Given the description of an element on the screen output the (x, y) to click on. 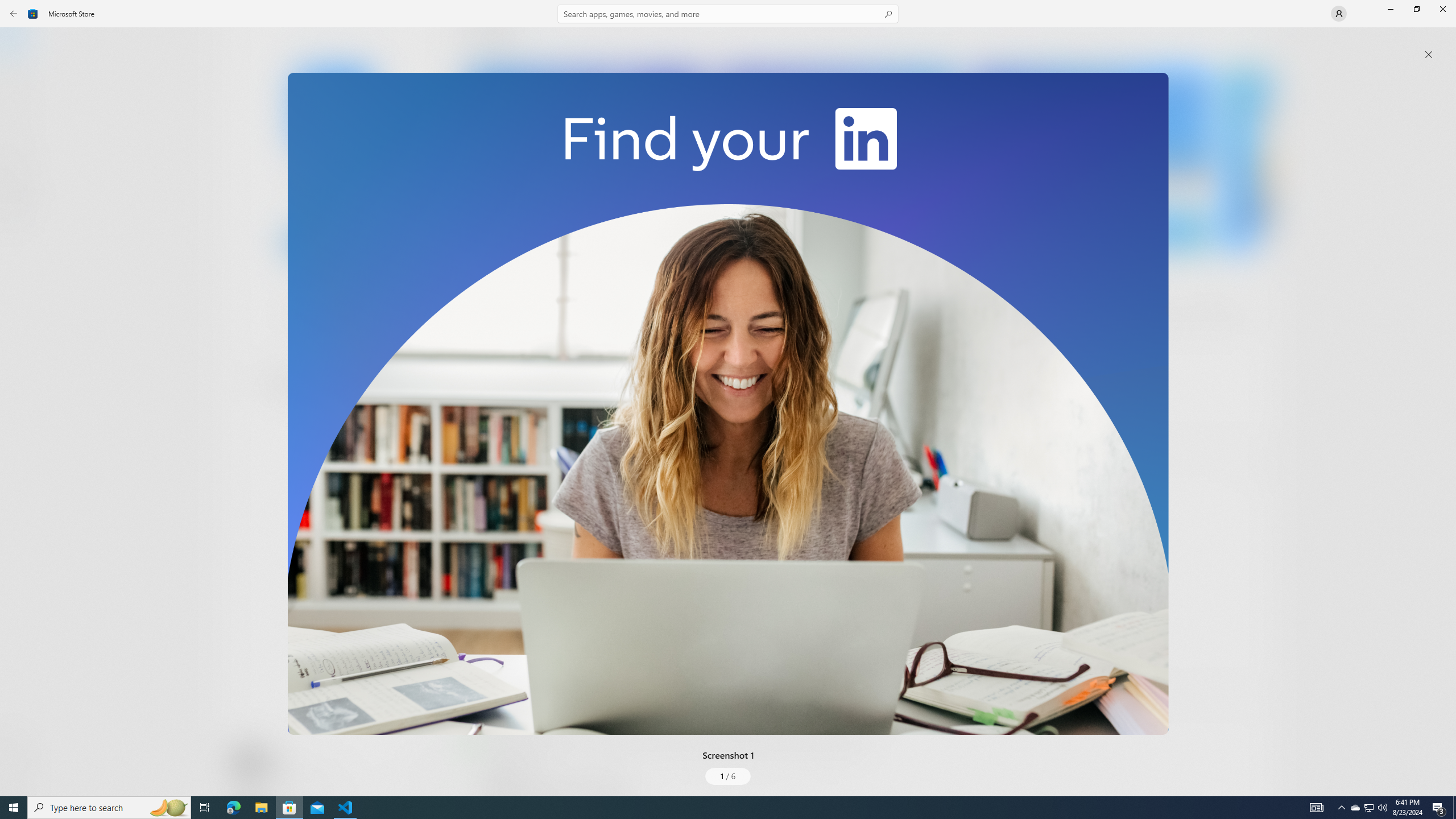
User profile (1338, 13)
